Given the description of an element on the screen output the (x, y) to click on. 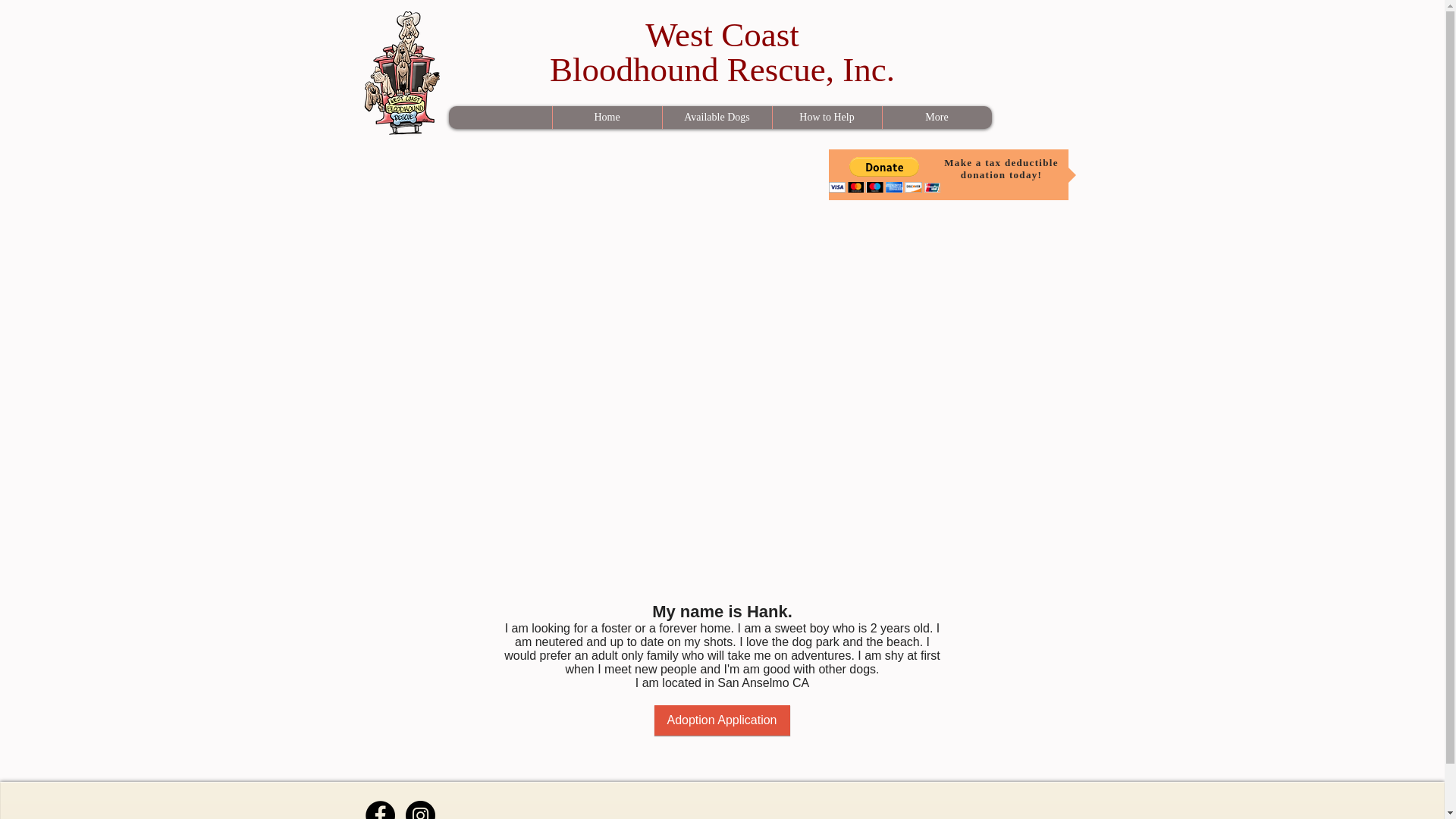
Home (606, 117)
How to Help (826, 117)
Adoption Application (721, 720)
Available Dogs (716, 117)
